Given the description of an element on the screen output the (x, y) to click on. 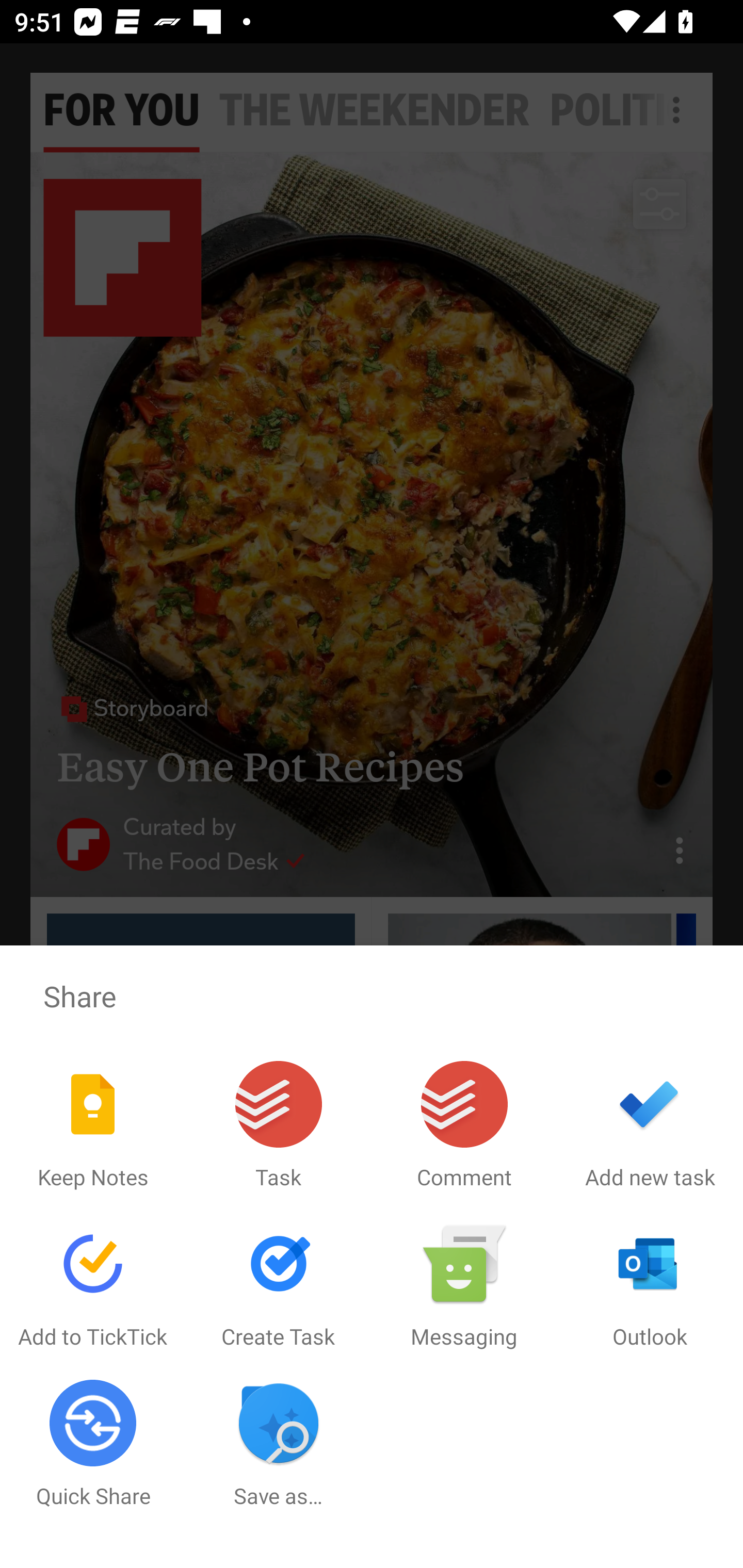
Keep Notes (92, 1125)
Task (278, 1125)
Comment (464, 1125)
Add new task (650, 1125)
More (666, 1244)
Add to TickTick (92, 1285)
Create Task (278, 1285)
Messaging (464, 1285)
Outlook (650, 1285)
Quick Share (92, 1444)
Save as… (278, 1444)
